Given the description of an element on the screen output the (x, y) to click on. 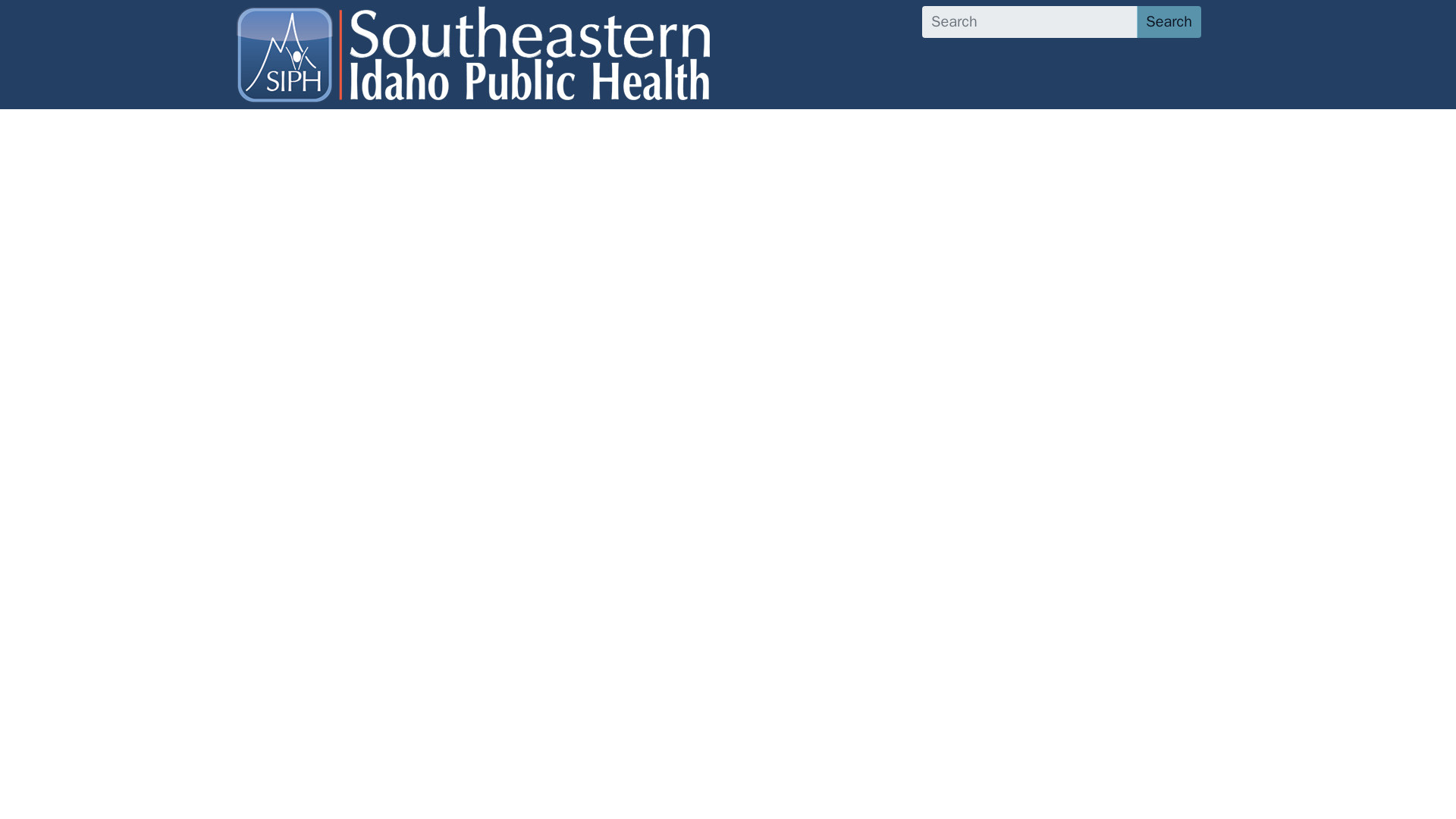
Search (1169, 21)
Search Our Site (1062, 21)
